Given the description of an element on the screen output the (x, y) to click on. 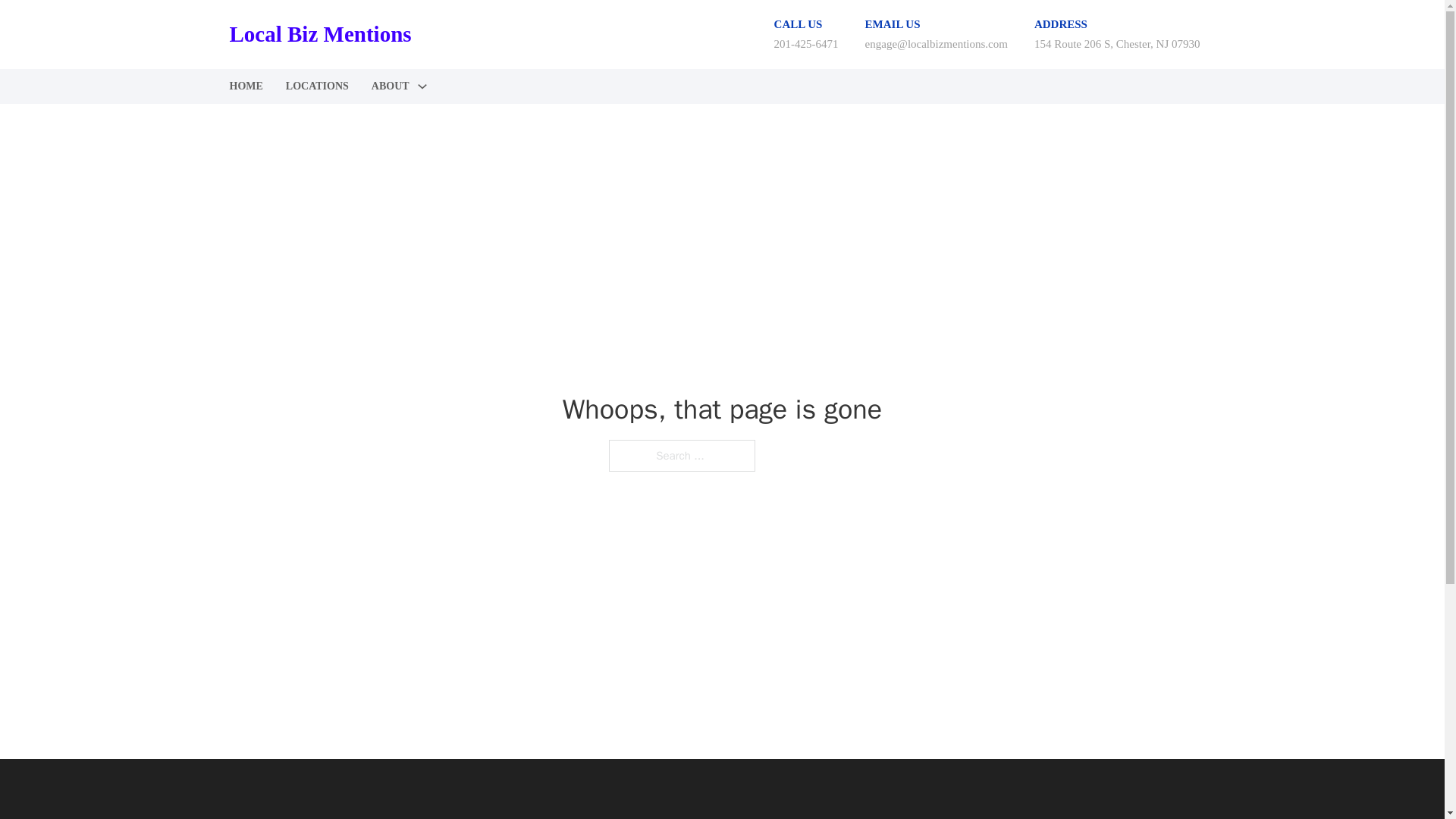
Local Biz Mentions (319, 34)
HOME (245, 85)
201-425-6471 (806, 43)
LOCATIONS (317, 85)
